Given the description of an element on the screen output the (x, y) to click on. 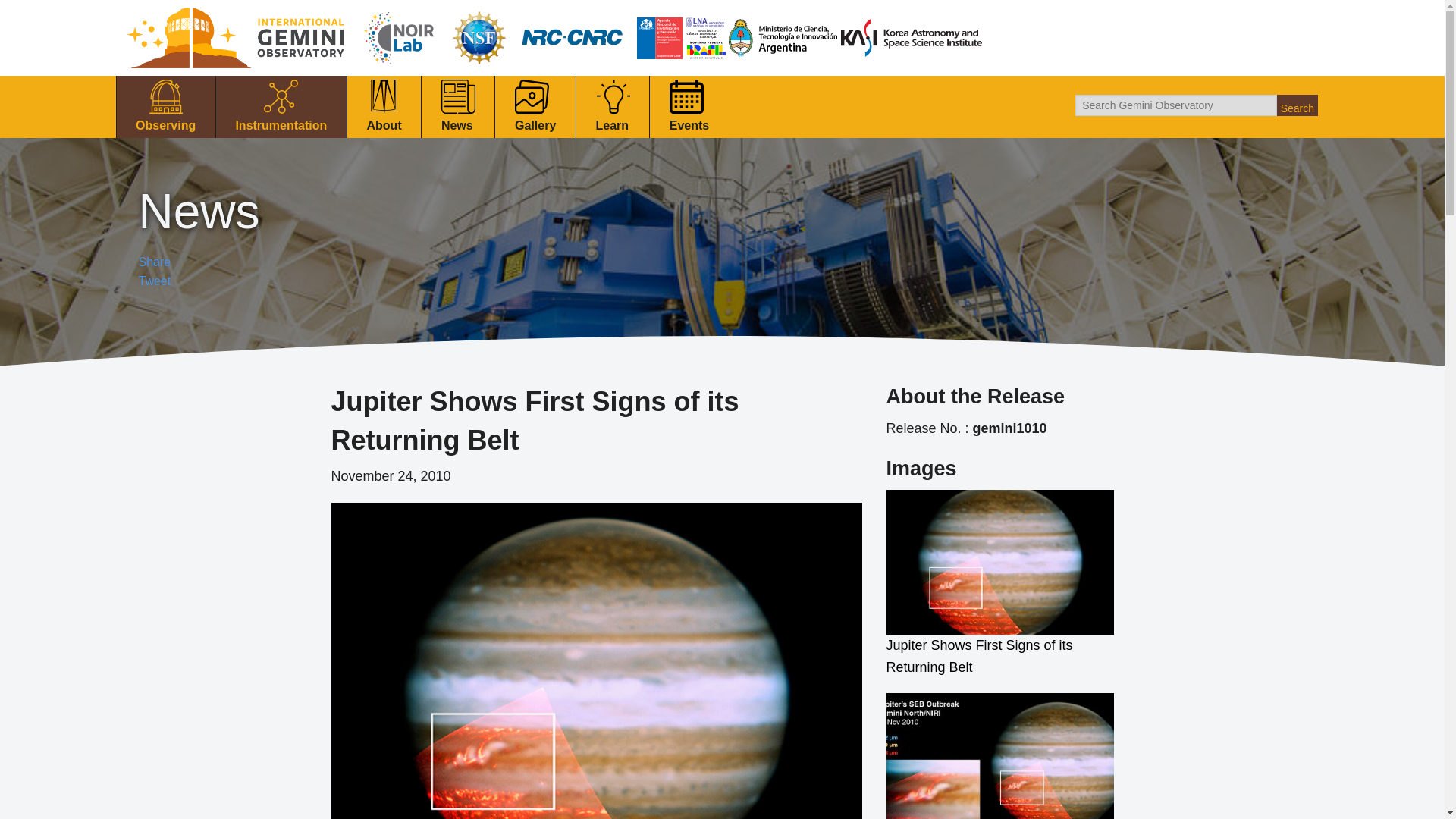
Observing (165, 108)
Search (1296, 104)
Phase I: Proposing for Time (165, 200)
Search (1296, 104)
Start here! (165, 154)
